Given the description of an element on the screen output the (x, y) to click on. 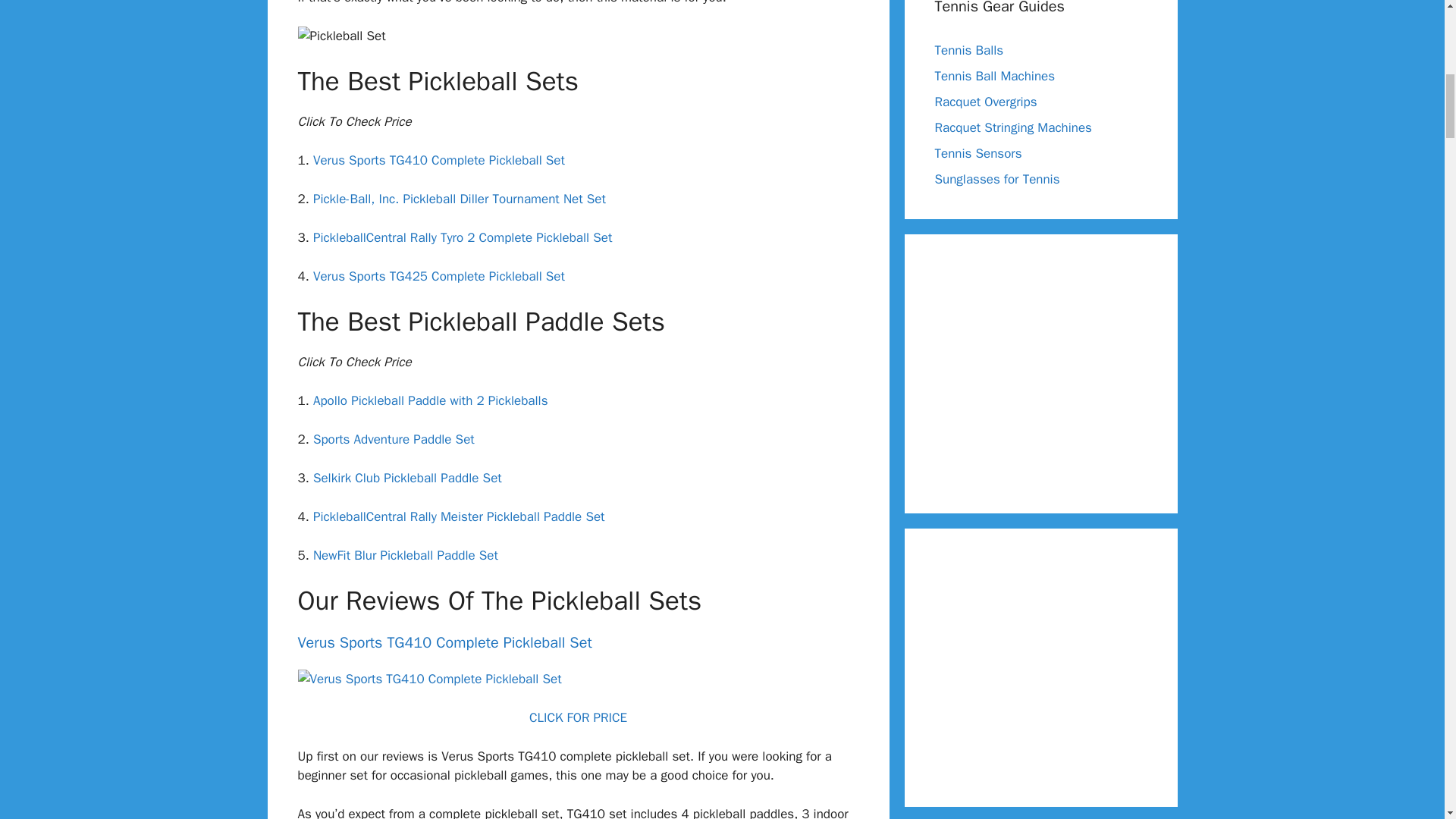
Pickleball Set (341, 35)
CLICK FOR PRICE (578, 717)
Verus Sports TG410 Complete Pickleball Set (444, 642)
Verus Sports TG410 Complete Pickleball Set (438, 160)
Sports Adventure Paddle Set (393, 439)
PickleballCentral Rally Tyro 2 Complete Pickleball Set (462, 237)
PickleballCentral Rally Meister Pickleball Paddle Set (459, 516)
NewFit Blur Pickleball Paddle Set (405, 555)
Verus Sports TG410 Complete Pickleball Set (428, 679)
Pickle-Ball, Inc. Pickleball Diller Tournament Net Set (459, 198)
